Given the description of an element on the screen output the (x, y) to click on. 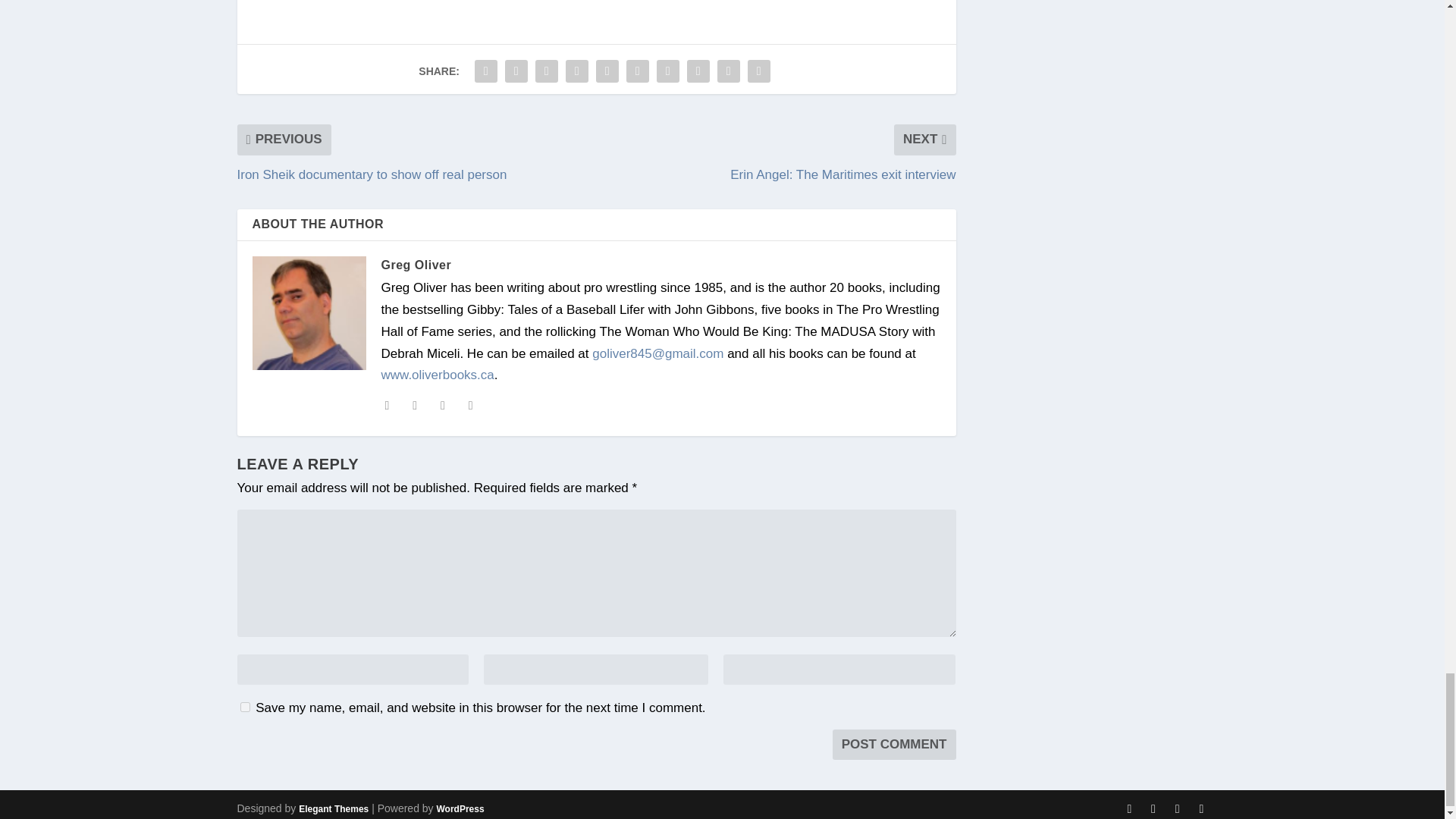
Premium WordPress Themes (333, 808)
Share "Brodus Clay tries horror in No One Lives" via Print (759, 71)
View all posts by Greg Oliver (415, 264)
yes (244, 706)
Share "Brodus Clay tries horror in No One Lives" via Twitter (515, 71)
Post Comment (894, 744)
Share "Brodus Clay tries horror in No One Lives" via Tumblr (577, 71)
Share "Brodus Clay tries horror in No One Lives" via Email (728, 71)
Share "Brodus Clay tries horror in No One Lives" via Buffer (667, 71)
